Given the description of an element on the screen output the (x, y) to click on. 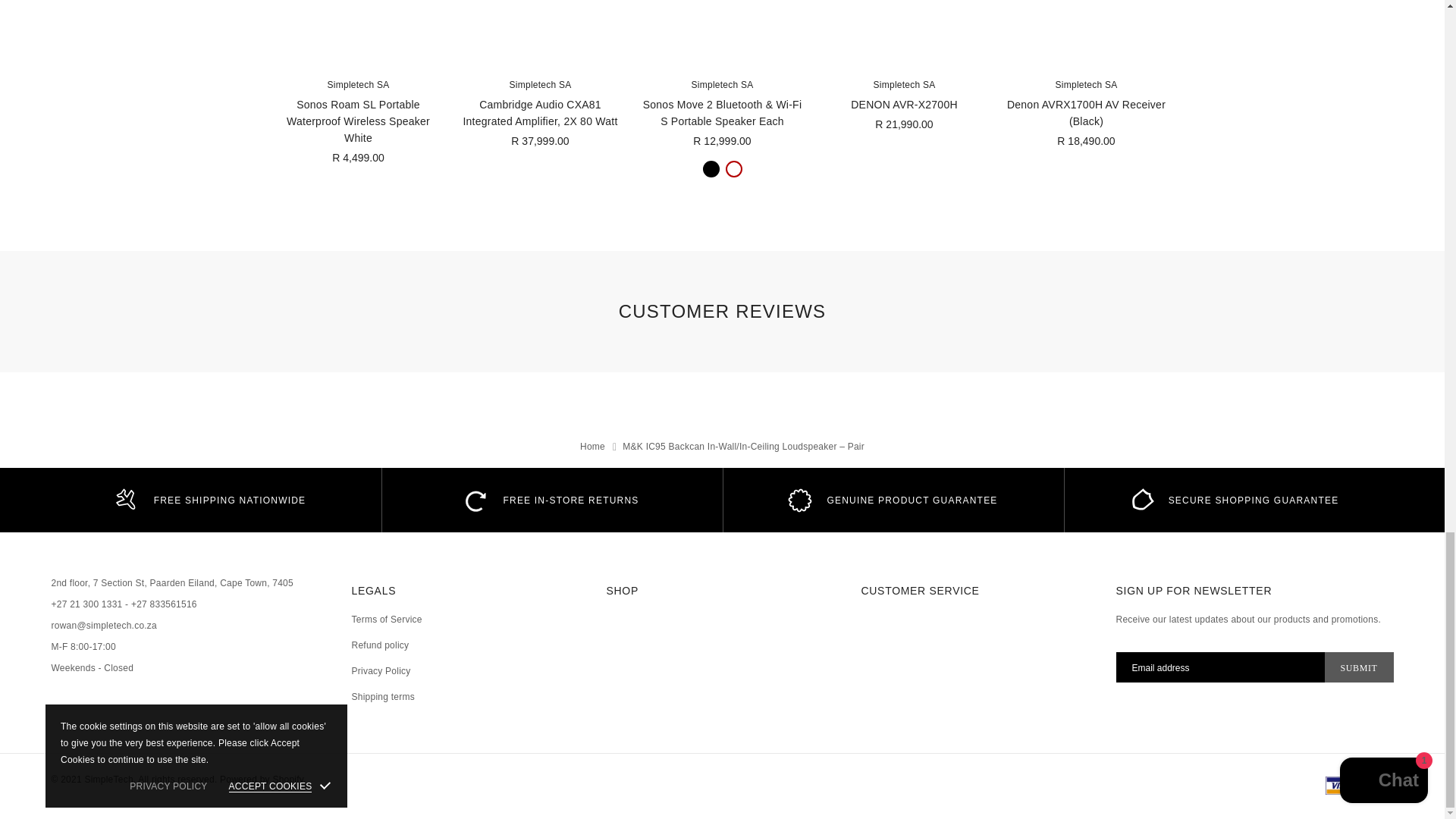
Simpletech SA (540, 84)
Submit (1358, 666)
Simpletech SA (358, 84)
